Given the description of an element on the screen output the (x, y) to click on. 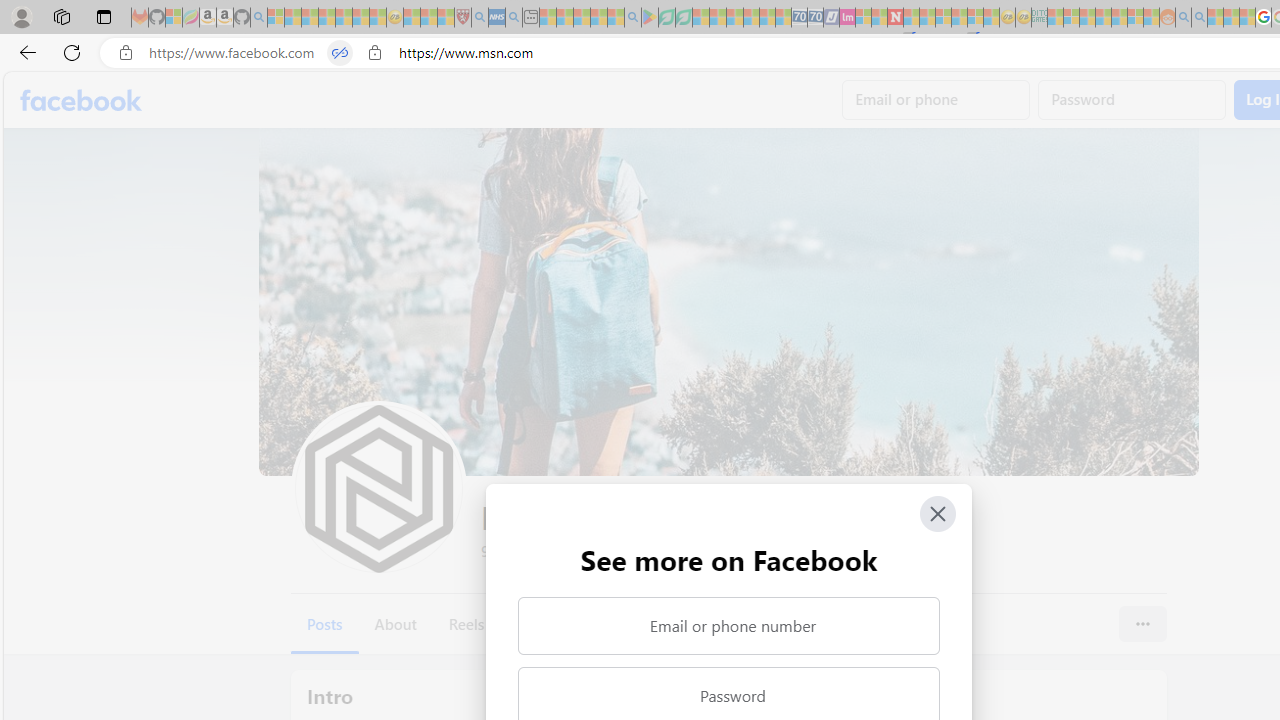
The Weather Channel - MSN - Sleeping (309, 17)
Latest Politics News & Archive | Newsweek.com - Sleeping (895, 17)
Robert H. Shmerling, MD - Harvard Health - Sleeping (462, 17)
View site information (374, 53)
Kinda Frugal - MSN - Sleeping (1119, 17)
Pets - MSN - Sleeping (598, 17)
